Given the description of an element on the screen output the (x, y) to click on. 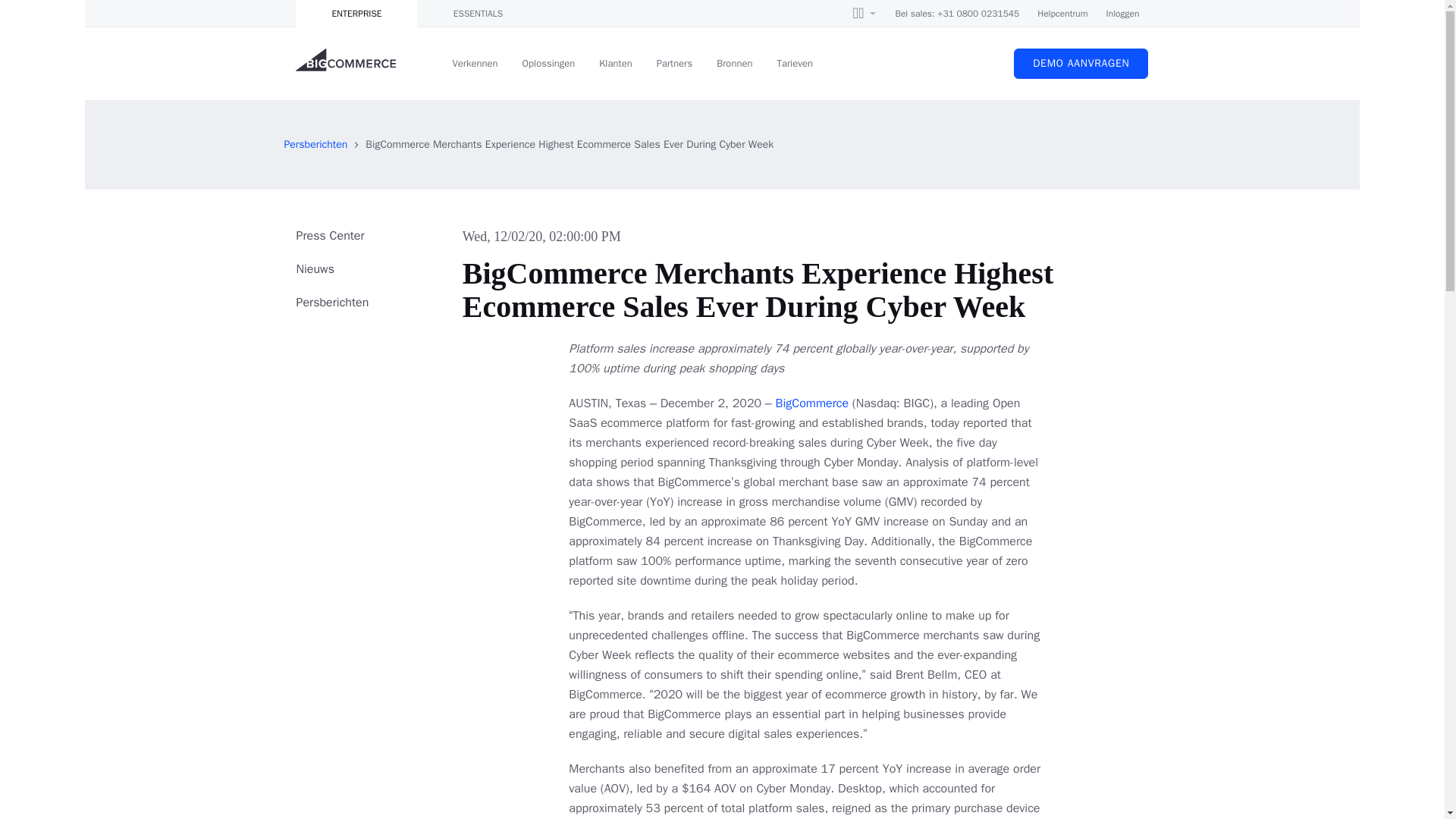
Verkennen (474, 63)
ESSENTIALS (477, 13)
Helpcentrum (1061, 13)
Inloggen (1123, 13)
Oplossingen (547, 63)
ENTERPRISE (355, 13)
